Given the description of an element on the screen output the (x, y) to click on. 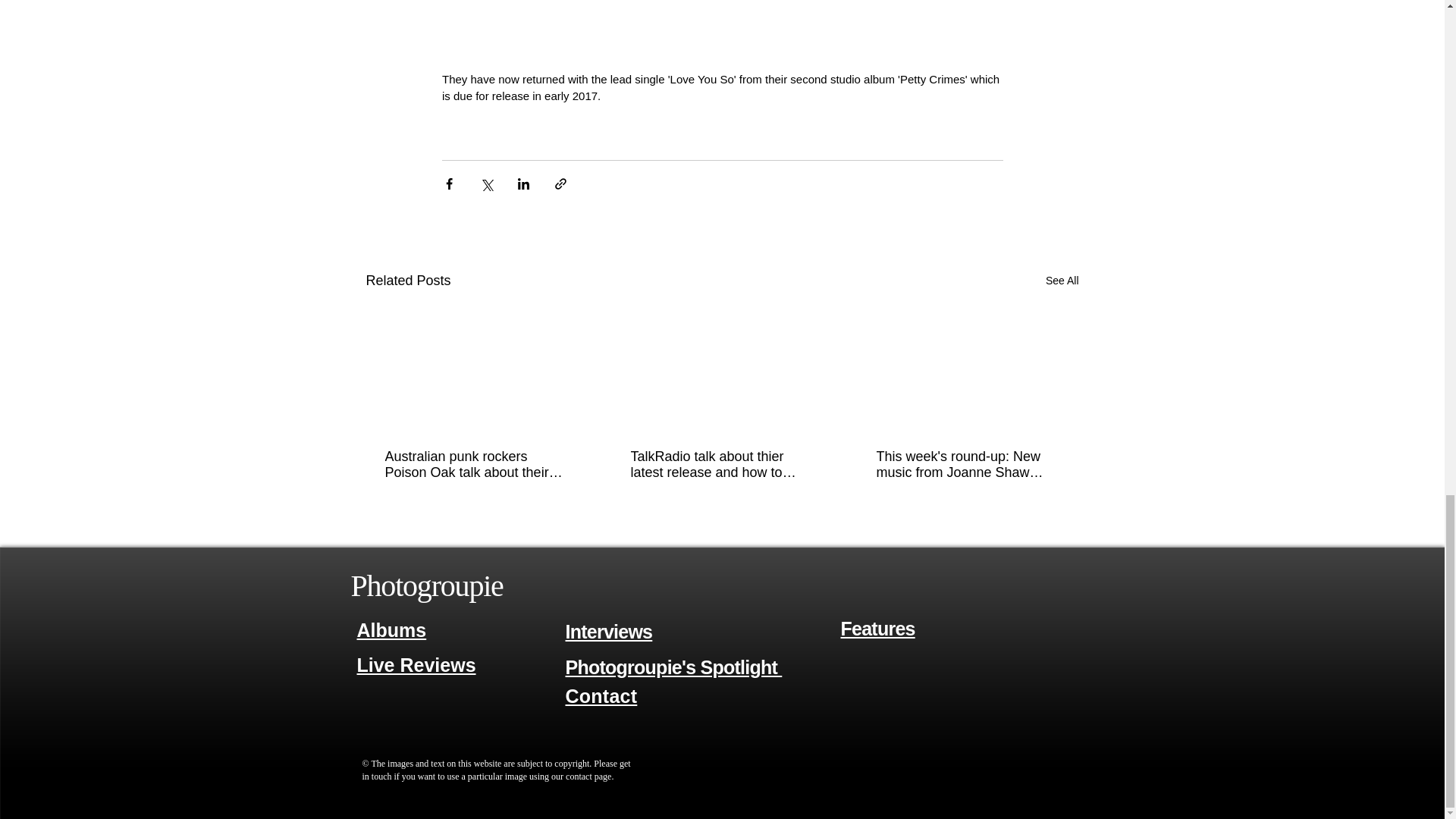
Photogroupie (426, 585)
Interviews (609, 631)
Albums (391, 629)
Photogroupie's Spotlight  (674, 667)
See All (1061, 280)
Live Reviews (416, 665)
Contact (601, 696)
